Given the description of an element on the screen output the (x, y) to click on. 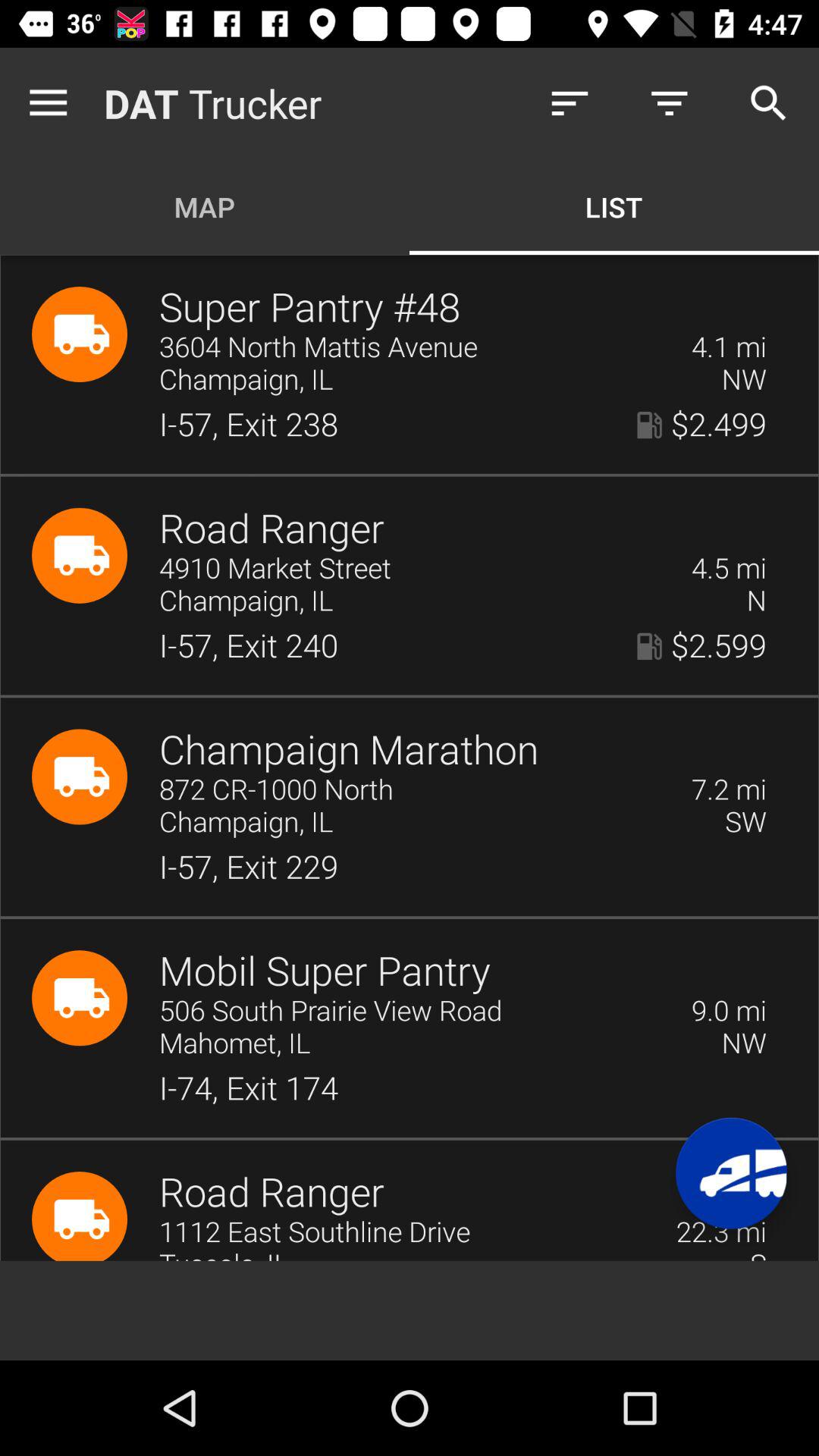
launch the item to the right of 506 south prairie (728, 1011)
